Given the description of an element on the screen output the (x, y) to click on. 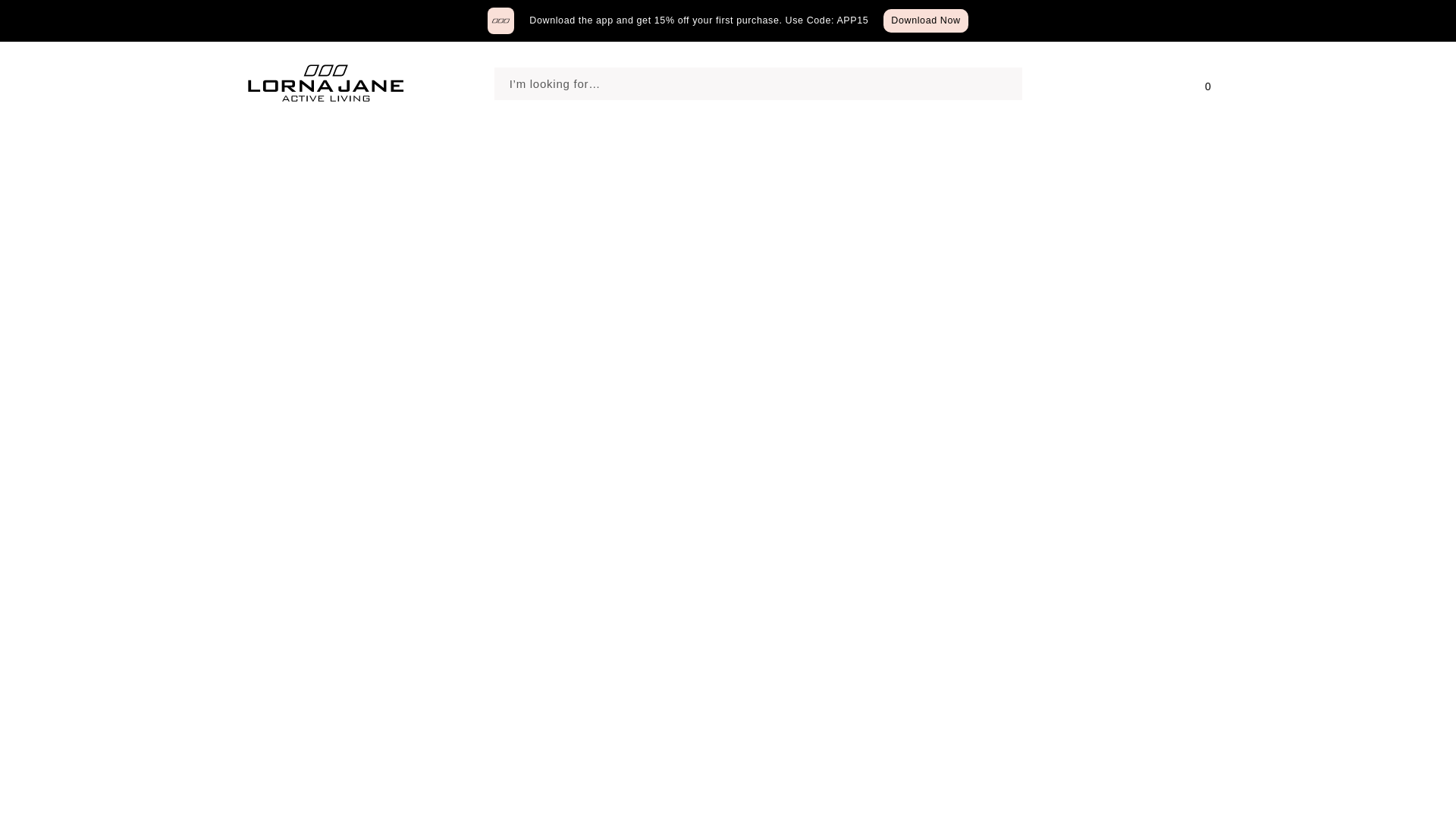
Download Now (925, 20)
